Given the description of an element on the screen output the (x, y) to click on. 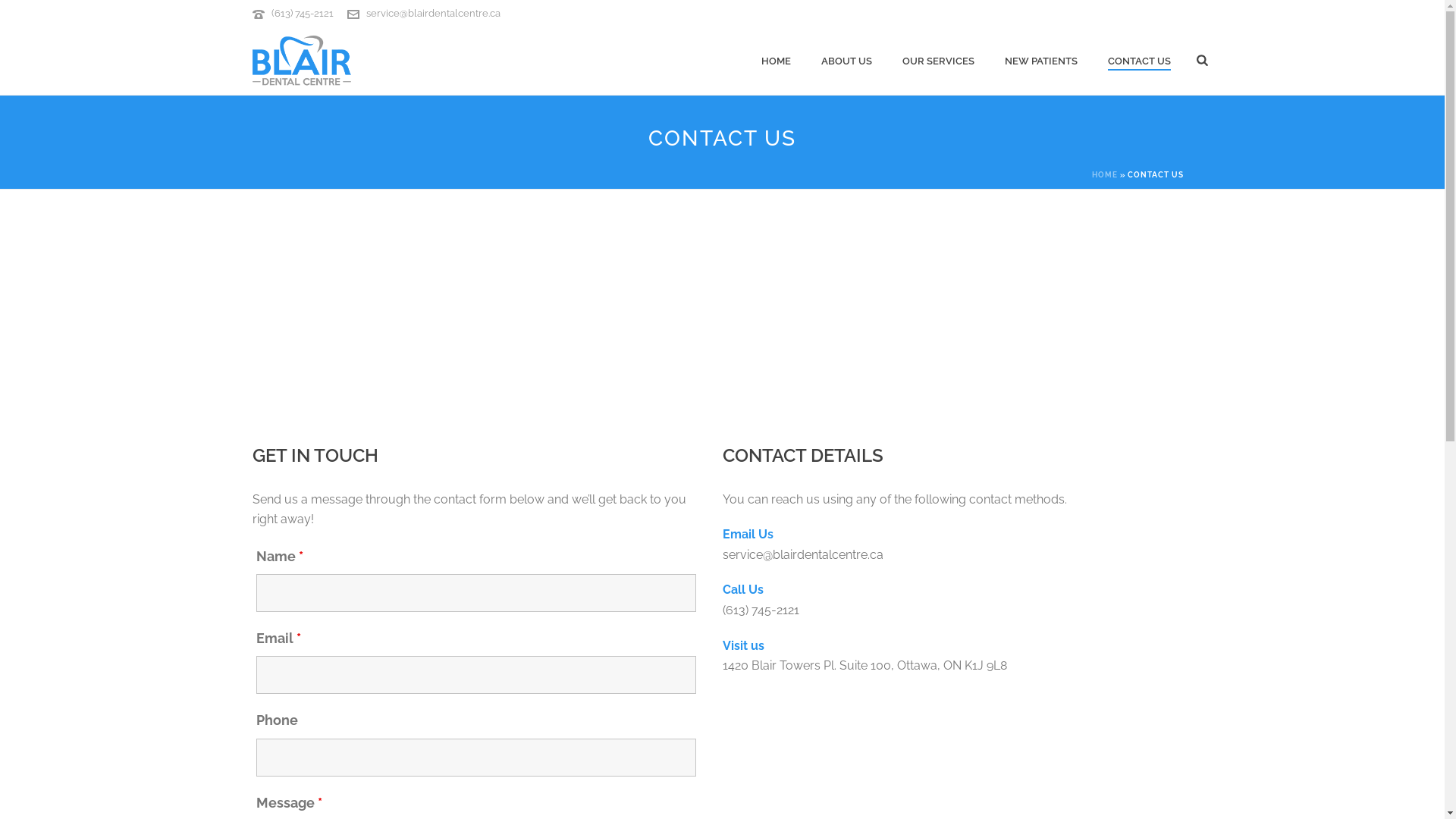
Ottawa Dentist Office Element type: hover (300, 60)
(613) 745-2121 Element type: text (302, 12)
HOME Element type: text (776, 61)
service@blairdentalcentre.ca Element type: text (432, 12)
CONTACT US Element type: text (1139, 61)
OUR SERVICES Element type: text (938, 61)
HOME Element type: text (1104, 174)
ABOUT US Element type: text (846, 61)
NEW PATIENTS Element type: text (1040, 61)
